Given the description of an element on the screen output the (x, y) to click on. 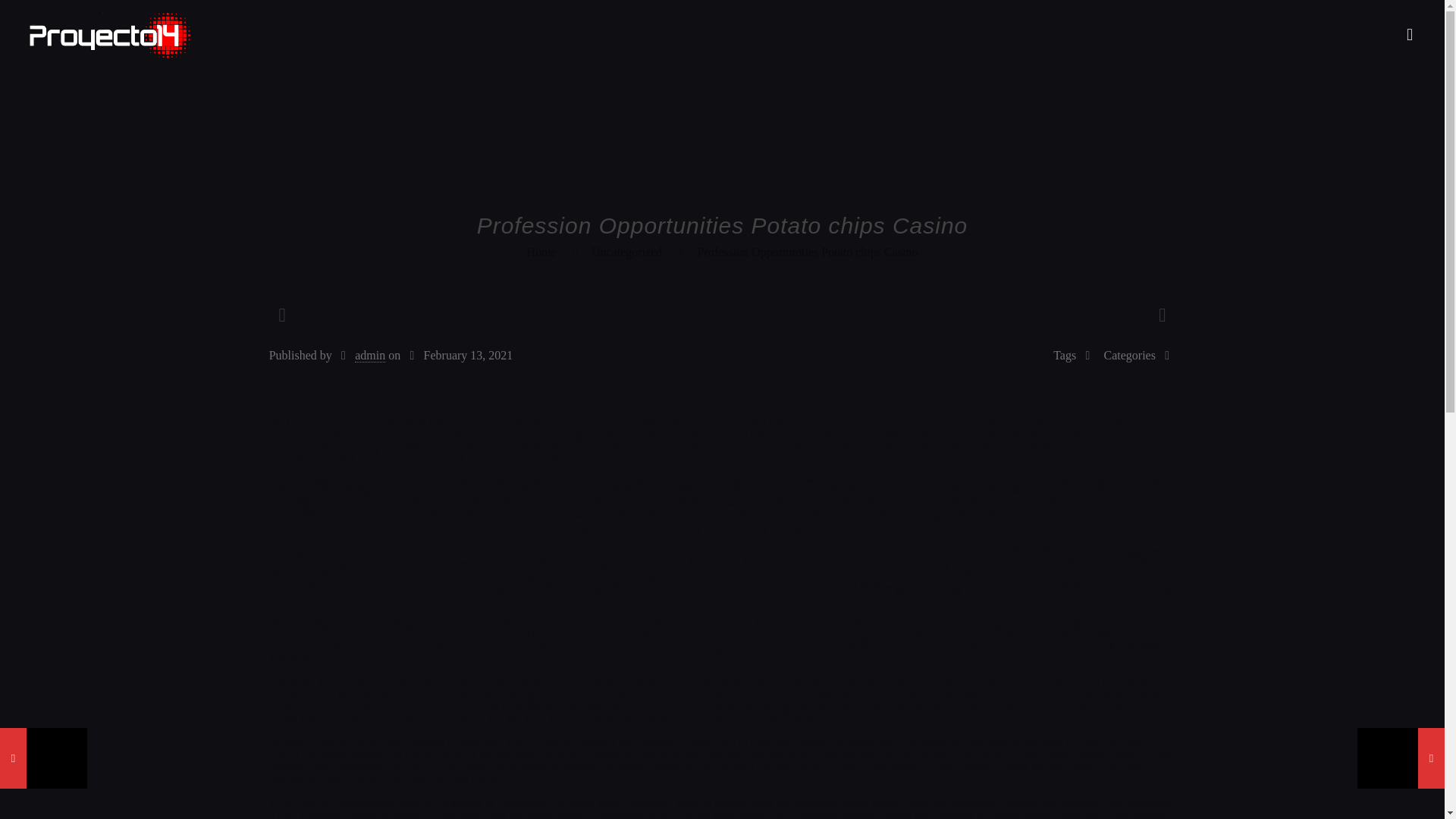
Home (541, 251)
Proyecto 14 (109, 34)
admin (370, 355)
Uncategorized (626, 251)
